Given the description of an element on the screen output the (x, y) to click on. 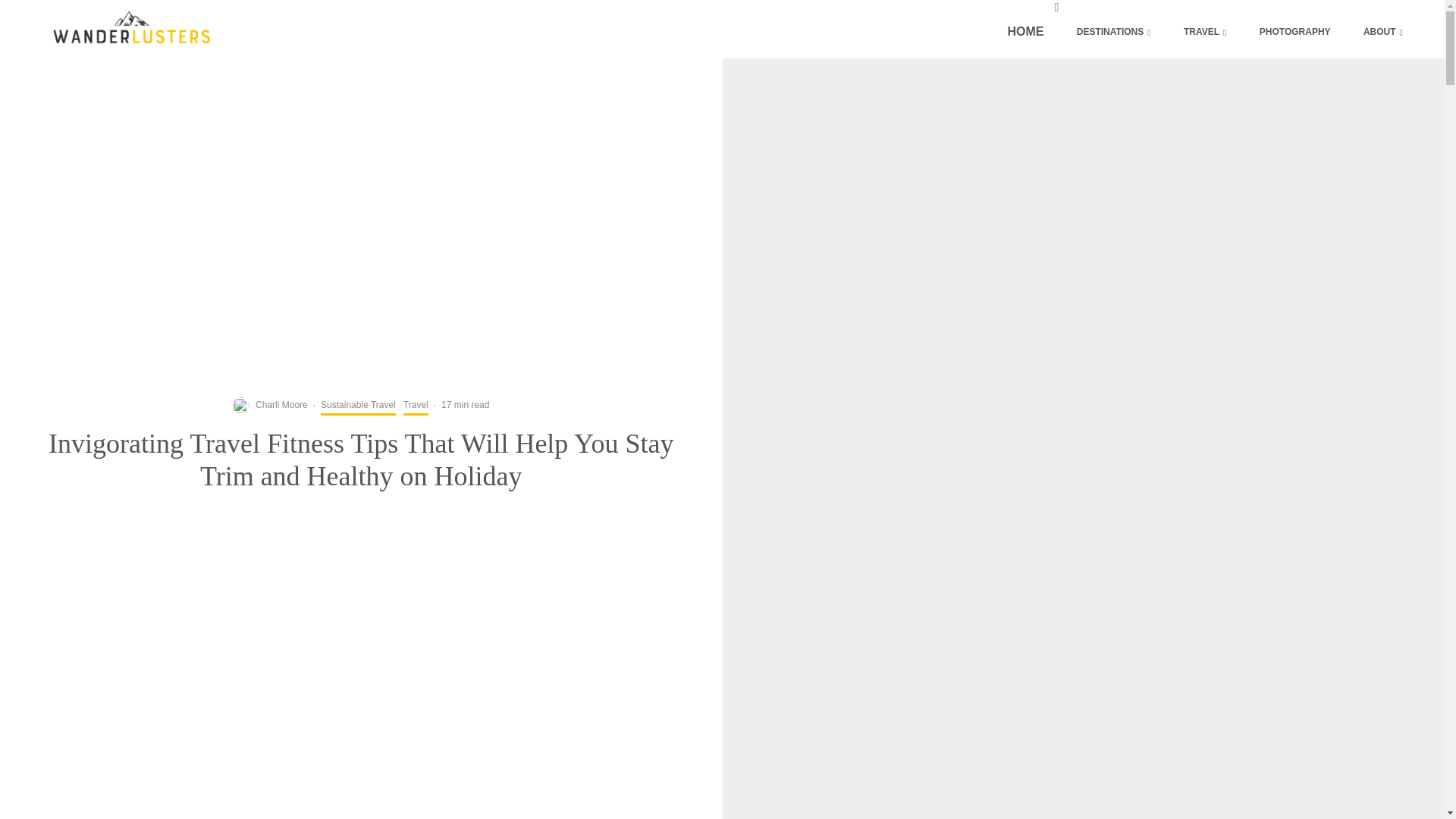
ABOUT (1383, 32)
DESTINATIONS (1113, 32)
Home (1024, 31)
HOME (1024, 31)
PHOTOGRAPHY (1294, 32)
TRAVEL (1205, 32)
Sustainable Travel (358, 406)
Charli Moore (281, 404)
Travel (415, 406)
